Given the description of an element on the screen output the (x, y) to click on. 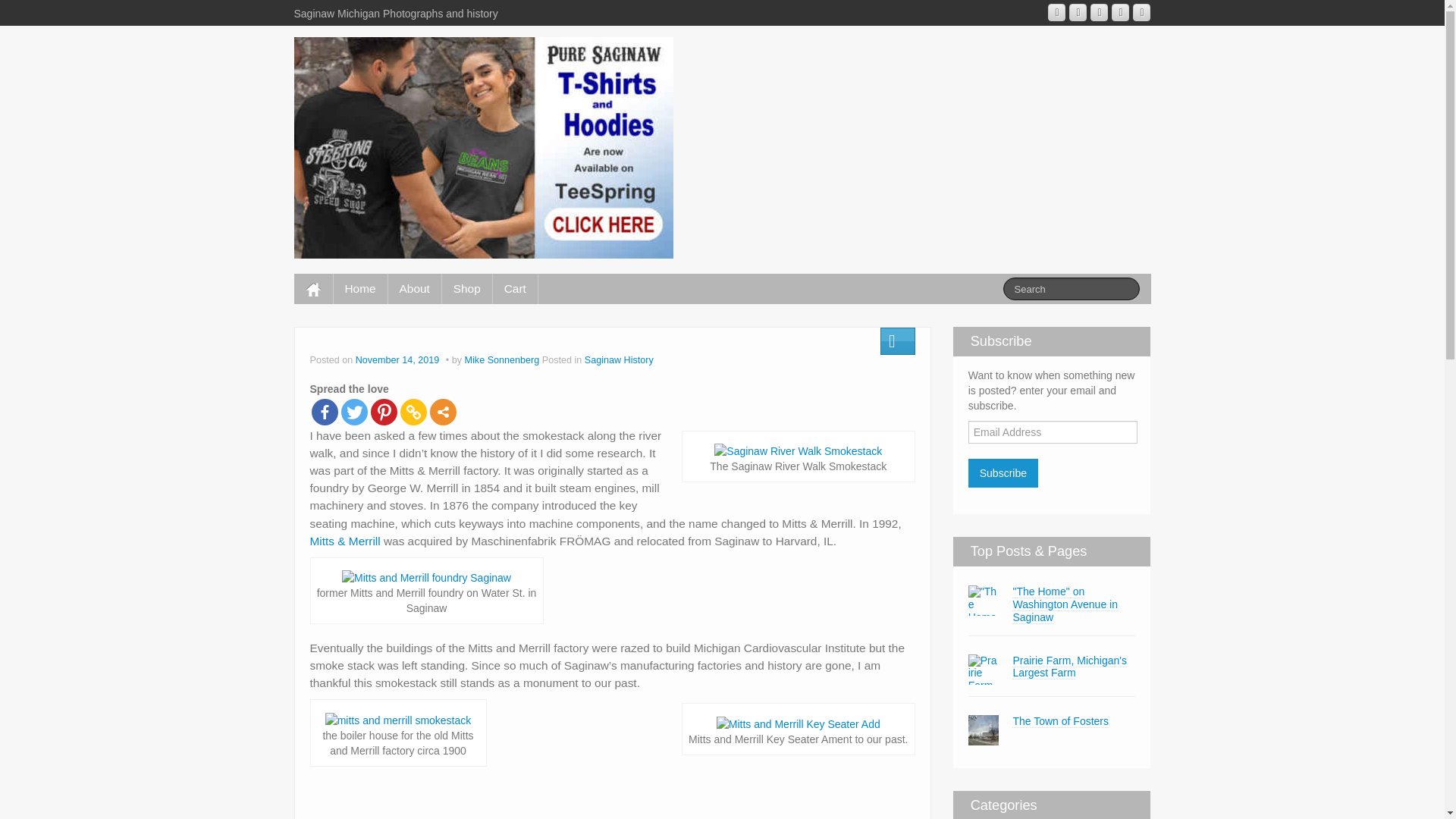
Pure Saginaw Facebook (1099, 12)
Saginaw History (619, 359)
Pure Saginaw Googleplus (1077, 12)
Mike Sonnenberg (502, 359)
More (442, 411)
Shop (467, 288)
About (414, 288)
Twitter (354, 411)
Pinterest (382, 411)
Pure Saginaw Email (1056, 12)
